Given the description of an element on the screen output the (x, y) to click on. 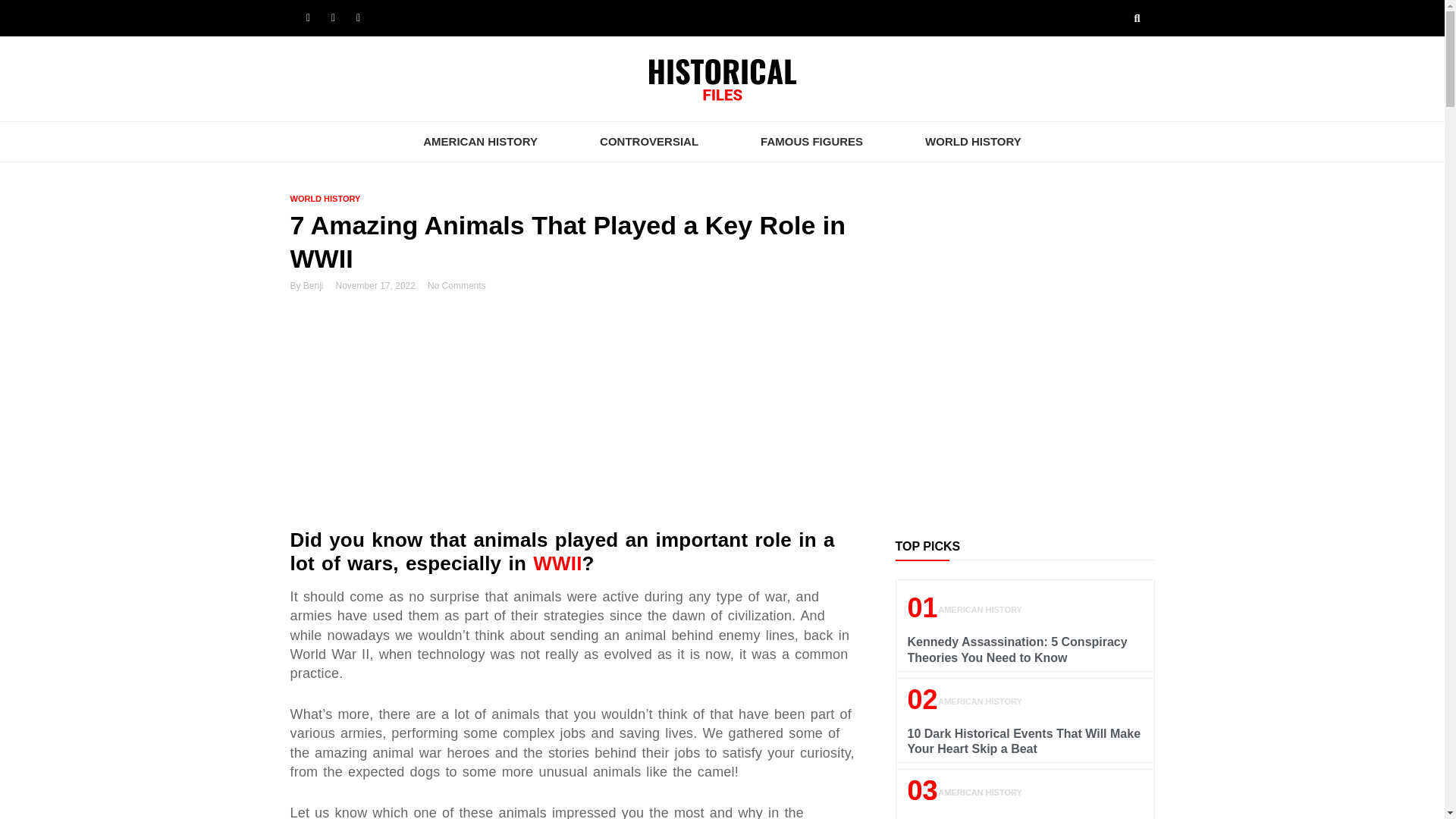
AMERICAN HISTORY (480, 141)
WORLD HISTORY (972, 141)
CONTROVERSIAL (649, 141)
FAMOUS FIGURES (811, 141)
Advertisement (573, 416)
Advertisement (1024, 418)
WWII (556, 563)
